Given the description of an element on the screen output the (x, y) to click on. 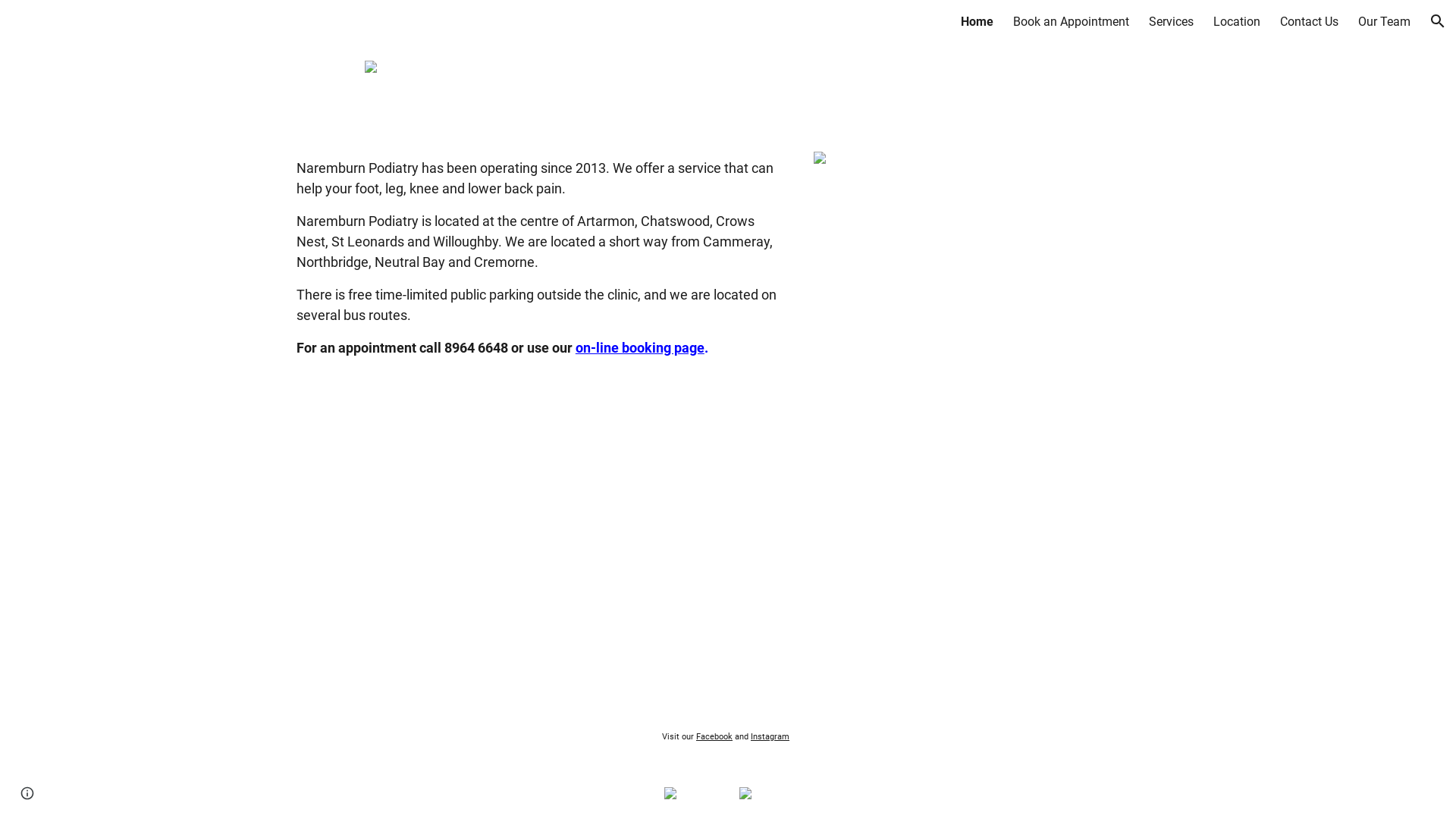
Home Element type: text (976, 20)
Instagram Element type: text (768, 735)
Facebook Element type: text (712, 735)
Our Team Element type: text (1384, 20)
Contact Us Element type: text (1309, 20)
on-line booking page Element type: text (639, 347)
Services Element type: text (1170, 20)
Location Element type: text (1236, 20)
Book an Appointment Element type: text (1071, 20)
